Given the description of an element on the screen output the (x, y) to click on. 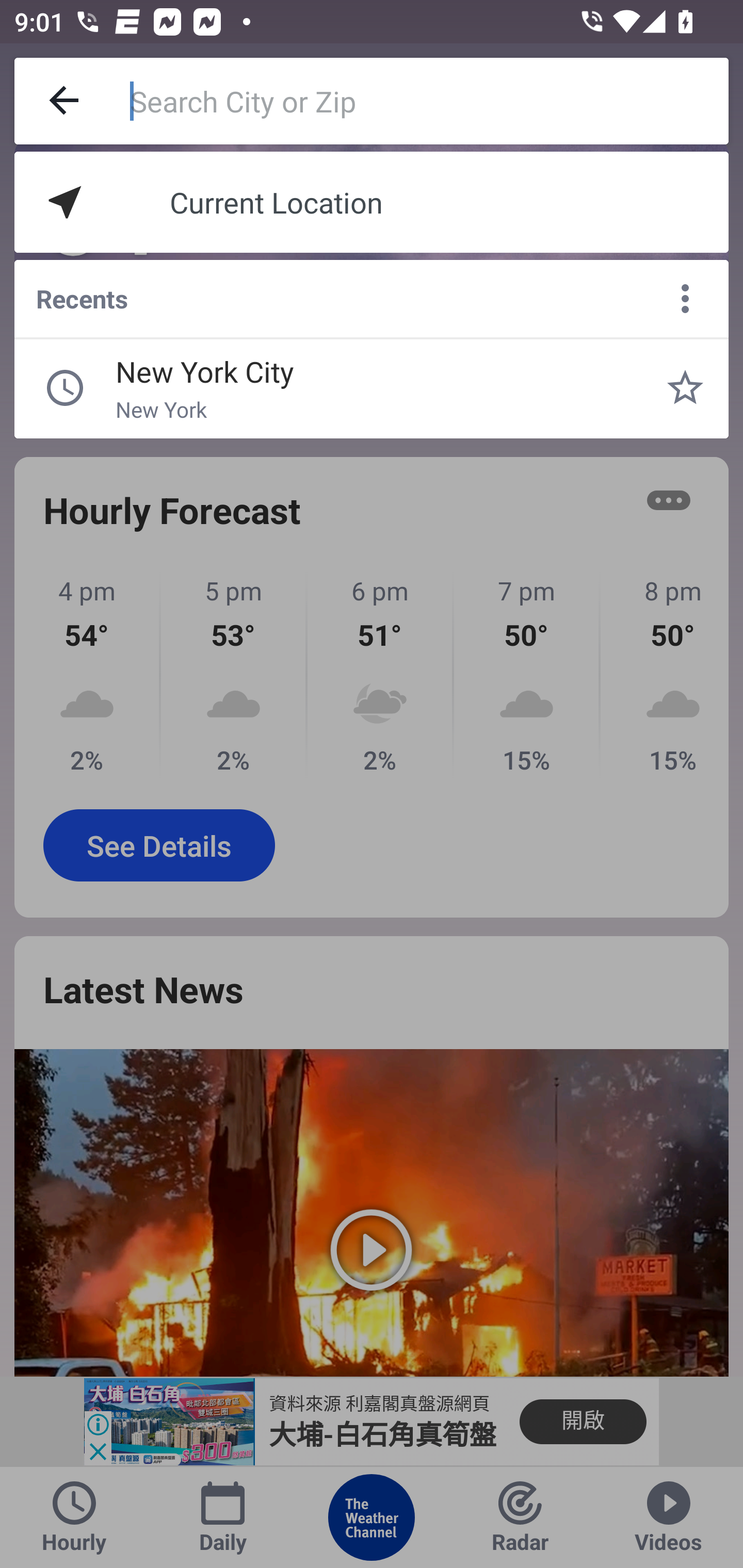
Back (64, 101)
Search City or Zip (429, 100)
Current Location (371, 202)
more (685, 298)
New York City New York Add to favorites (684, 387)
